Given the description of an element on the screen output the (x, y) to click on. 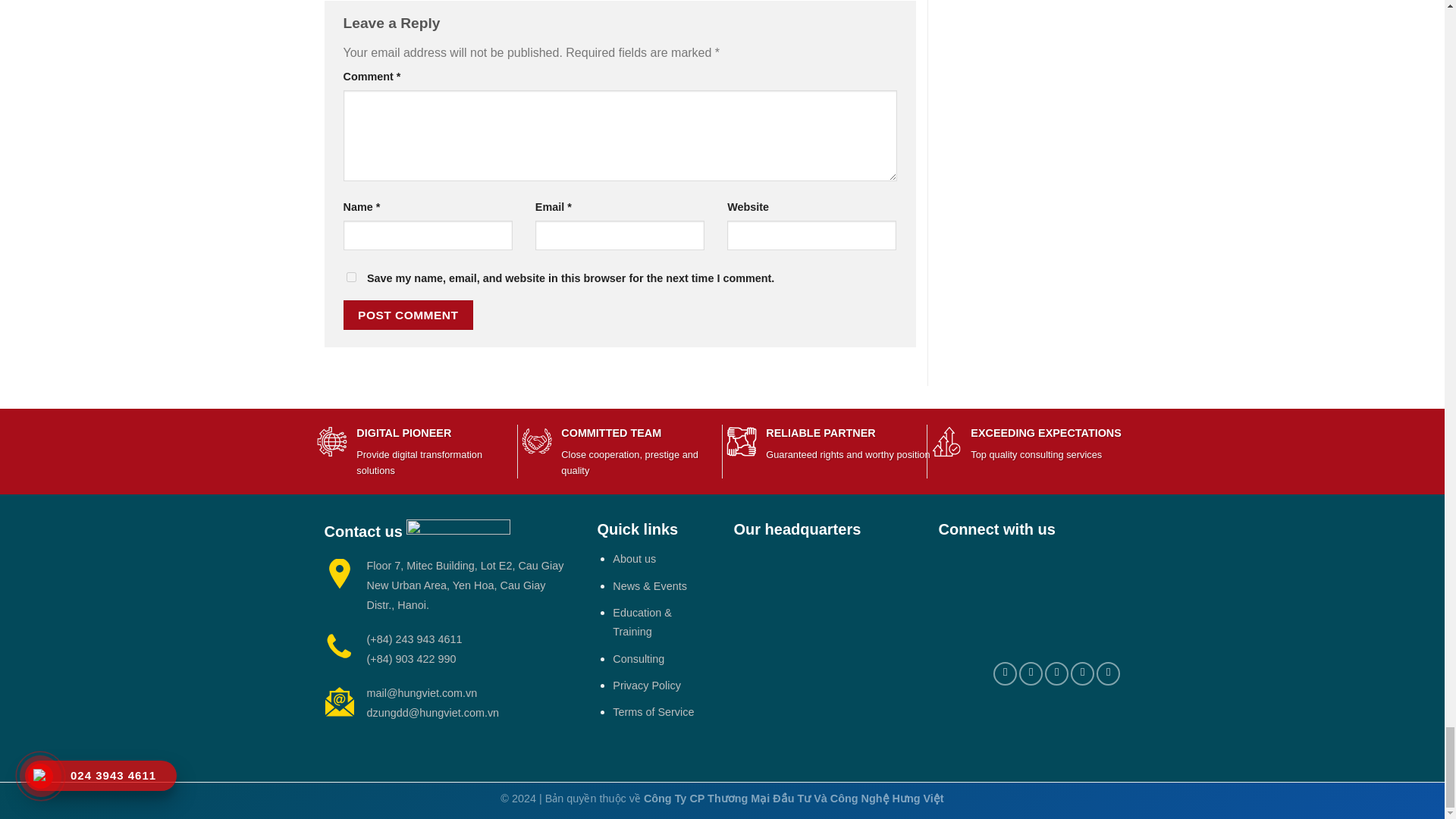
Send us an email (1030, 673)
Follow on YouTube (1107, 673)
yes (350, 276)
Follow on Twitter (1004, 673)
Call us (1056, 673)
Post Comment (407, 315)
Follow on LinkedIn (1082, 673)
